Given the description of an element on the screen output the (x, y) to click on. 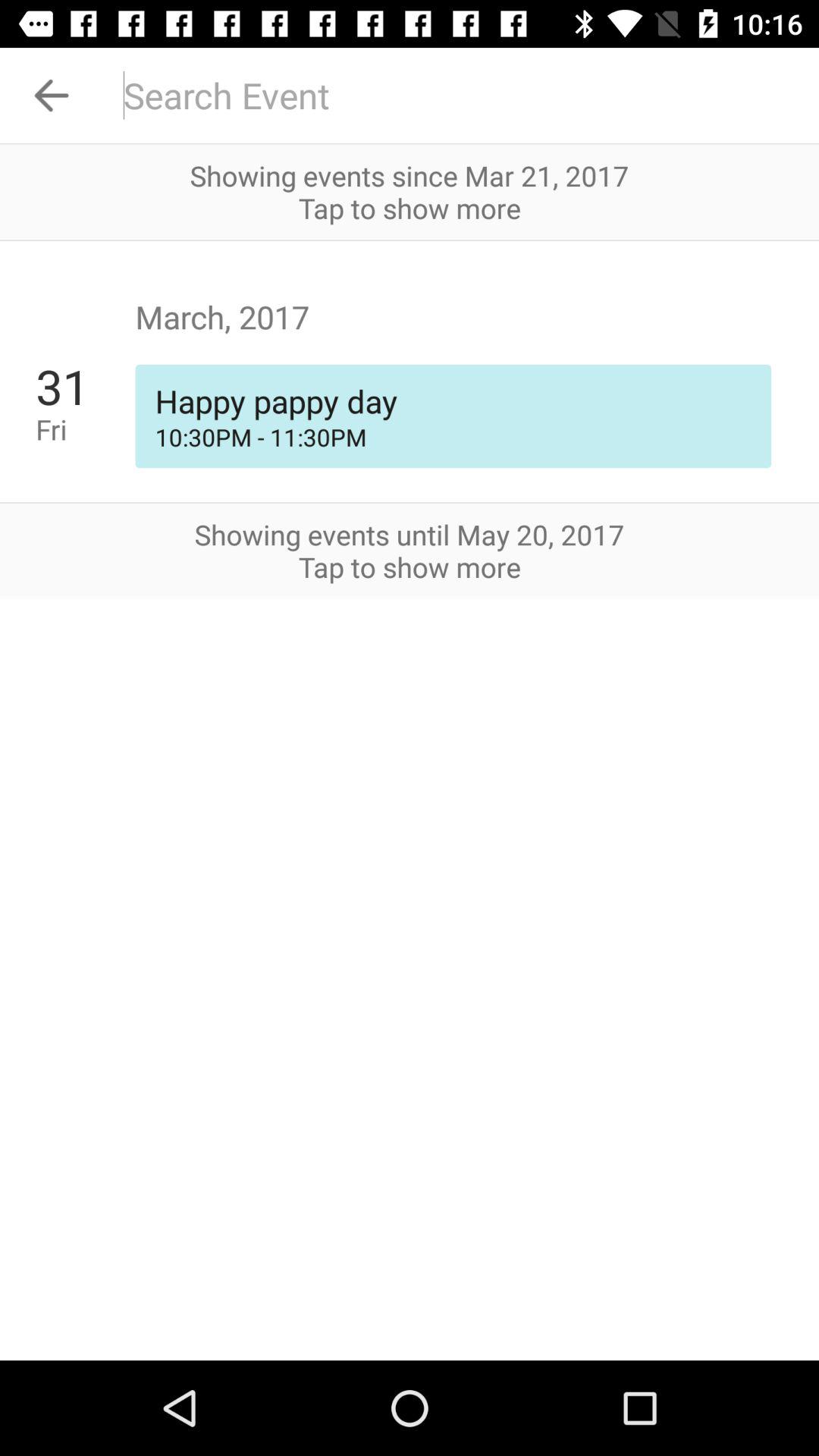
open icon above 10 30pm 11 icon (453, 400)
